Given the description of an element on the screen output the (x, y) to click on. 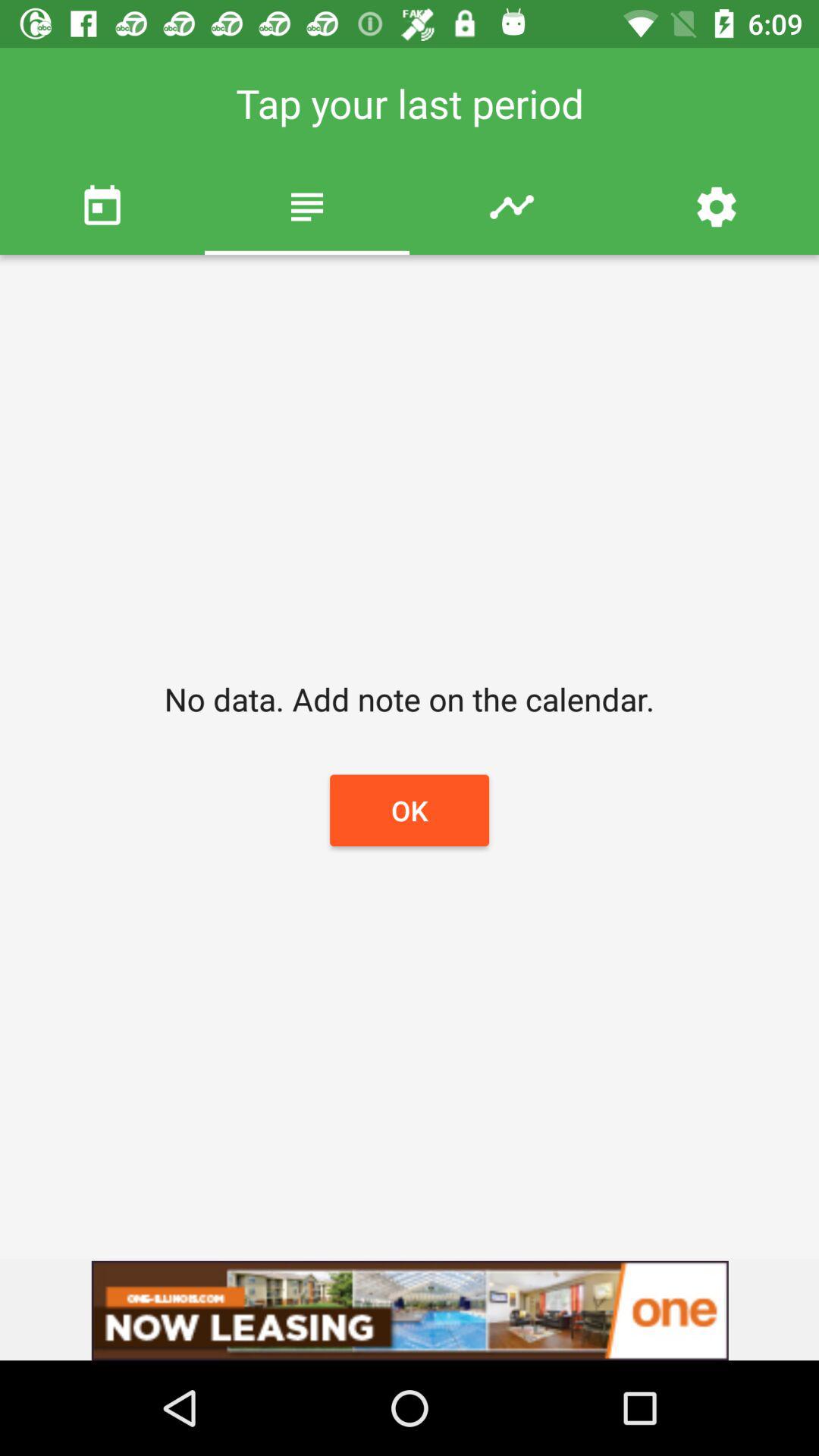
advertisement (409, 1310)
